Given the description of an element on the screen output the (x, y) to click on. 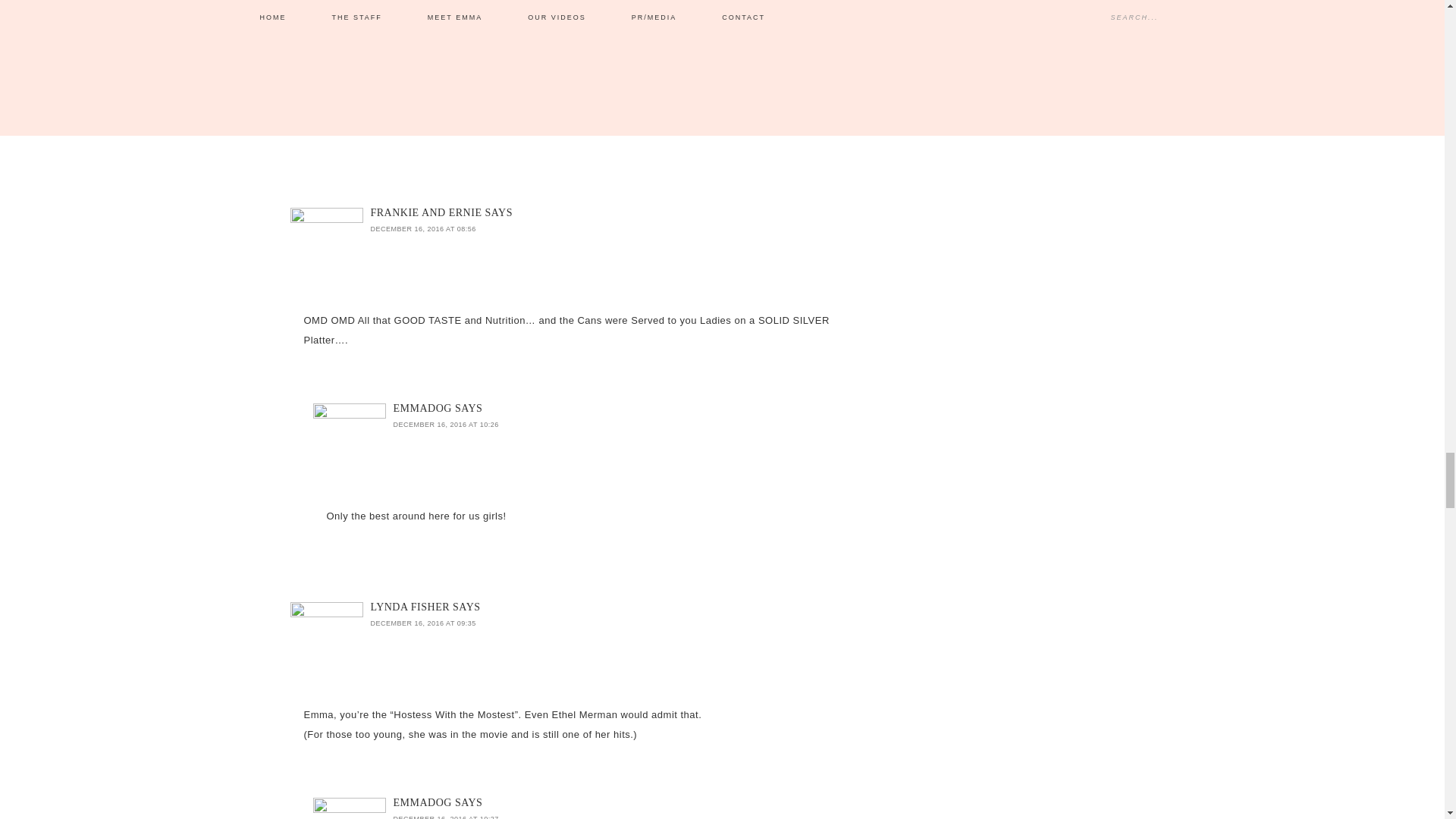
DECEMBER 16, 2016 AT 08:56 (422, 228)
DECEMBER 16, 2016 AT 10:26 (445, 424)
DECEMBER 16, 2016 AT 10:26 (445, 30)
